Given the description of an element on the screen output the (x, y) to click on. 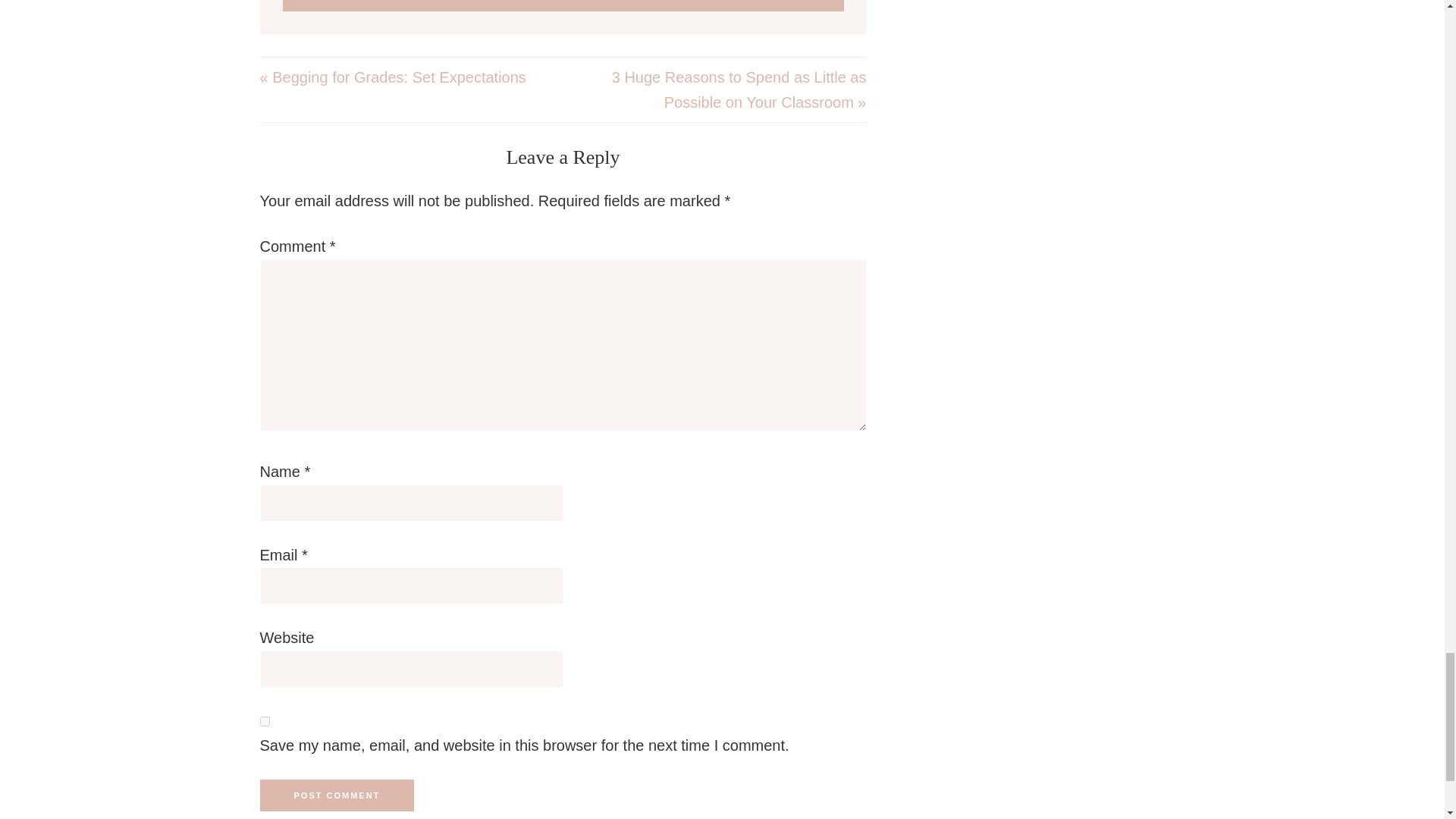
Subscribe (562, 5)
Post Comment (336, 795)
Subscribe (562, 5)
yes (264, 721)
